Given the description of an element on the screen output the (x, y) to click on. 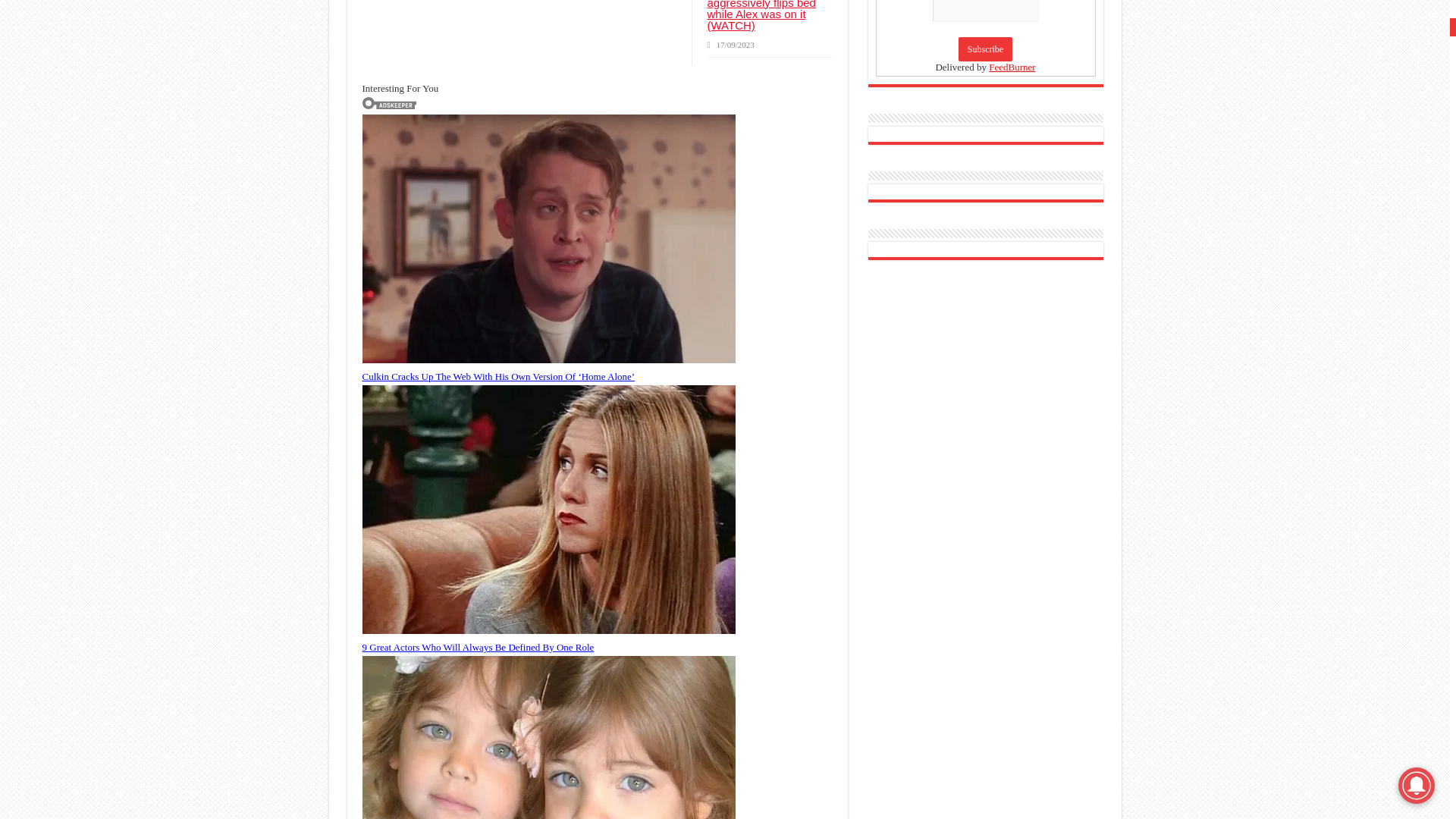
Subscribe (984, 48)
